Given the description of an element on the screen output the (x, y) to click on. 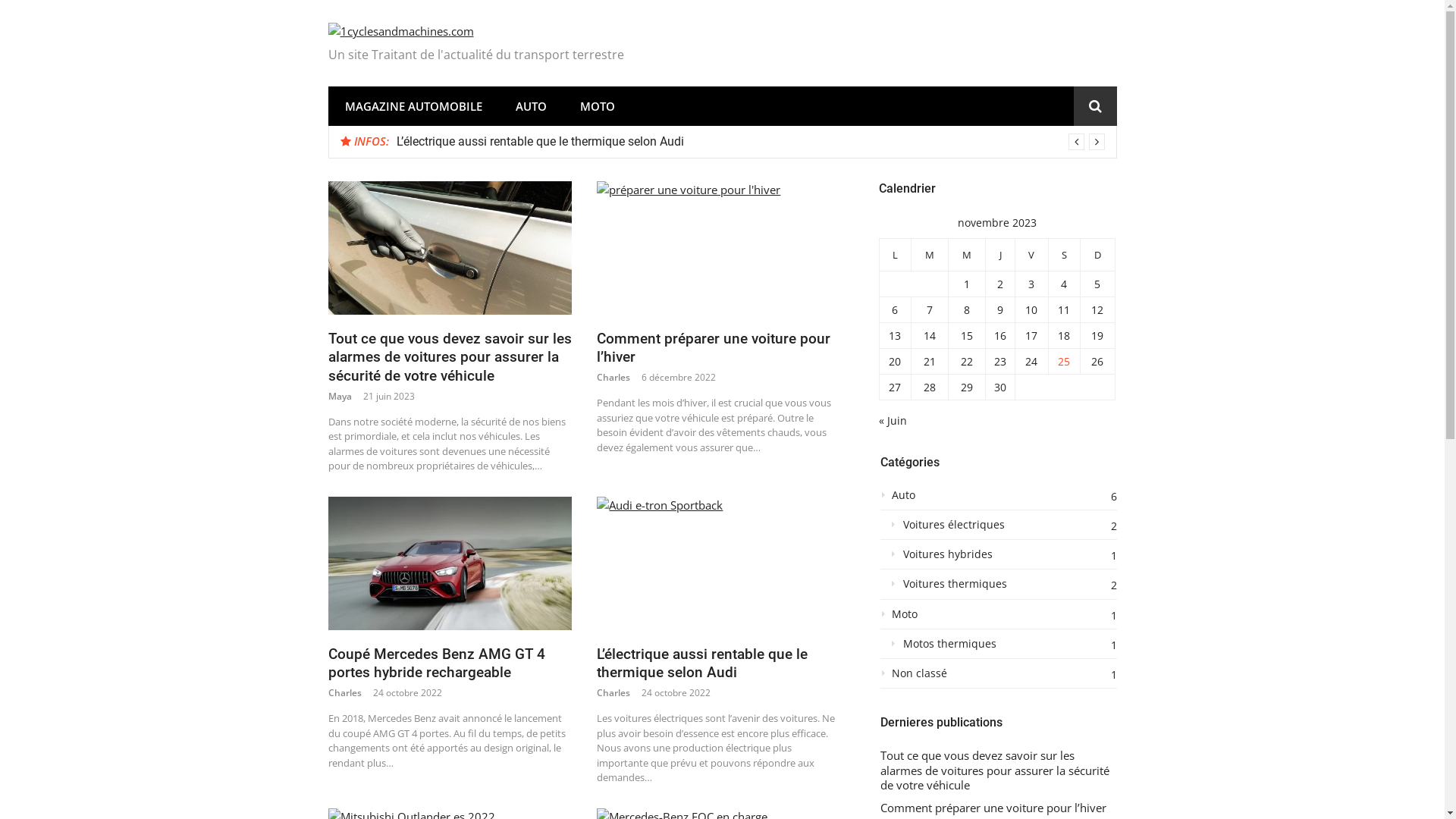
Maya Element type: text (339, 395)
Charles Element type: text (613, 692)
MAGAZINE AUTOMOBILE Element type: text (412, 106)
Auto Element type: text (997, 499)
Moto Element type: text (997, 618)
MOTO Element type: text (596, 106)
Motos thermiques Element type: text (997, 647)
Charles Element type: text (613, 376)
Charles Element type: text (343, 692)
AUTO Element type: text (530, 106)
Voitures hybrides Element type: text (997, 558)
Voitures thermiques Element type: text (997, 588)
